Given the description of an element on the screen output the (x, y) to click on. 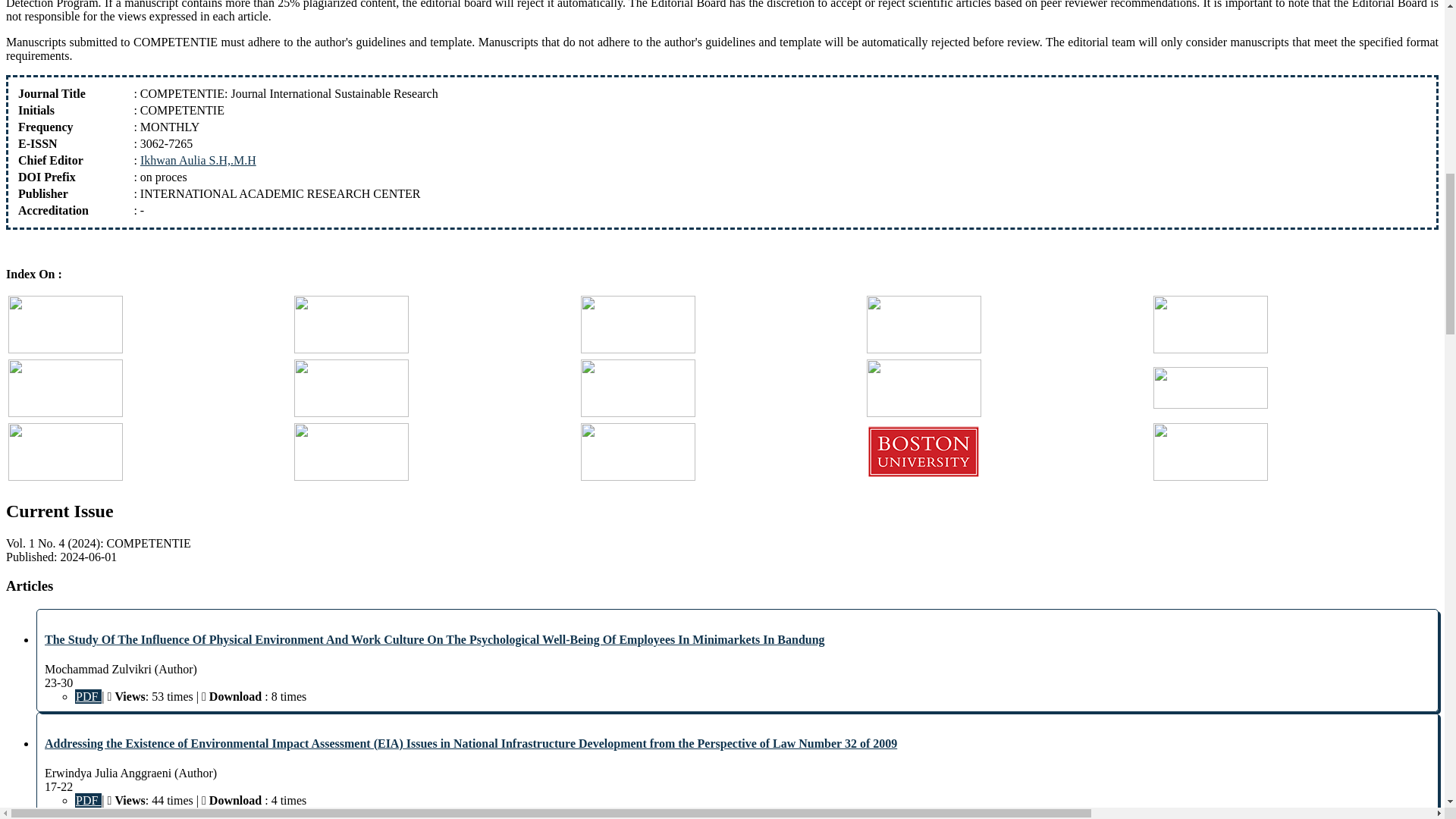
Ikhwan Aulia S.H,.M.H (197, 160)
PDF (88, 800)
PDF (88, 696)
